Given the description of an element on the screen output the (x, y) to click on. 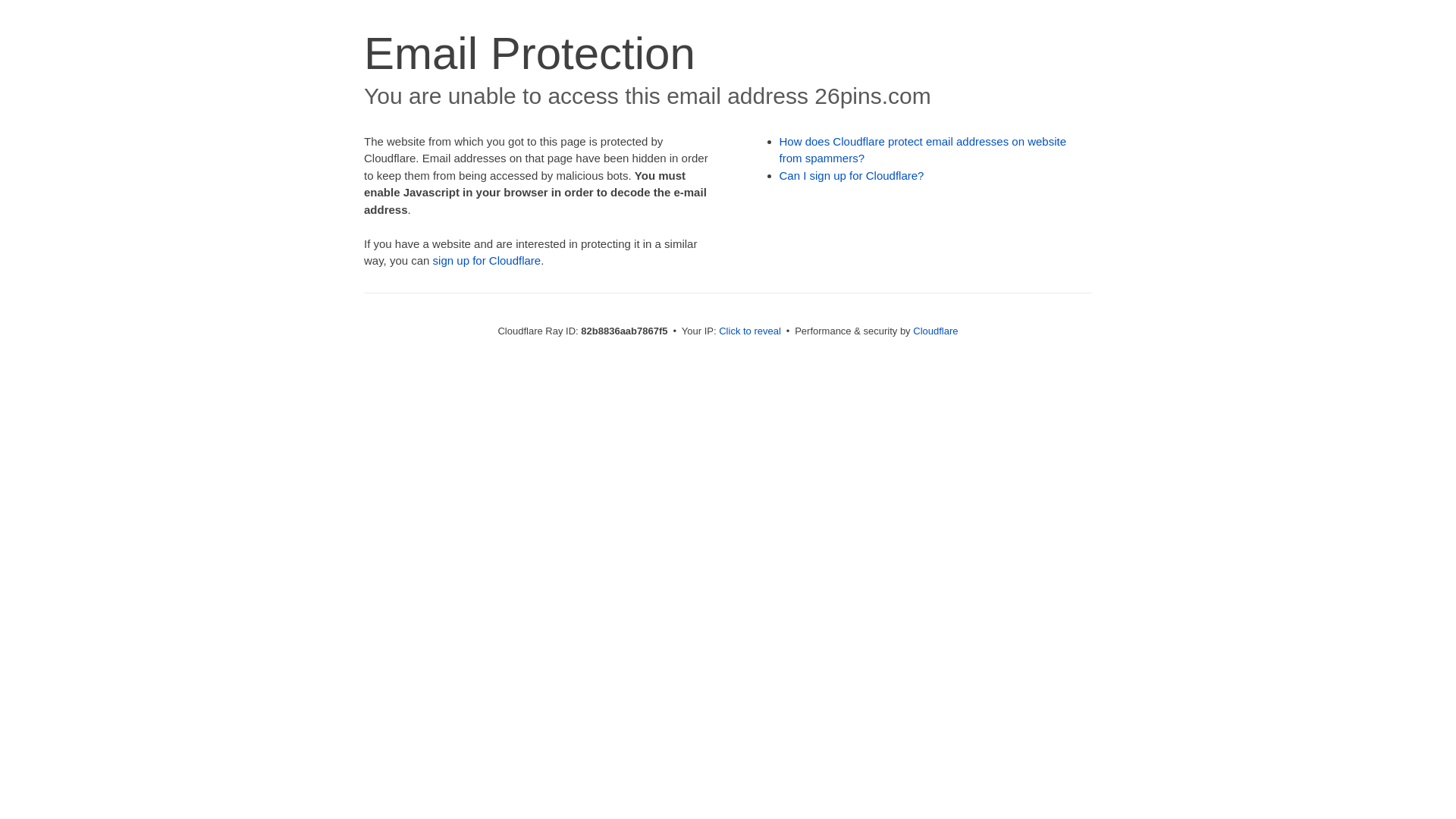
sign up for Cloudflare Element type: text (487, 260)
Click to reveal Element type: text (749, 330)
Cloudflare Element type: text (935, 330)
Can I sign up for Cloudflare? Element type: text (851, 175)
